Given the description of an element on the screen output the (x, y) to click on. 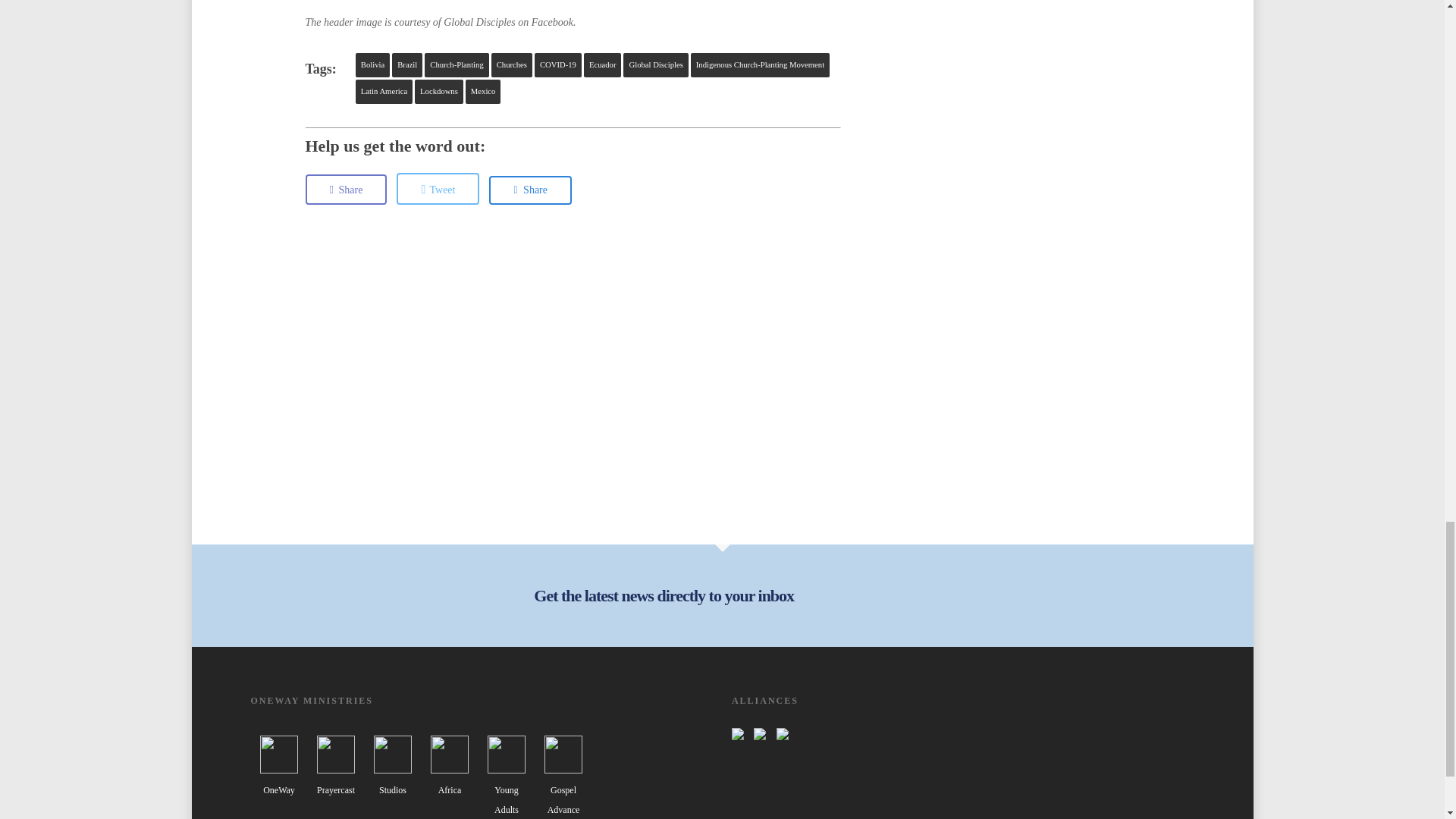
COVID-19 (557, 64)
Share this (345, 189)
Brazil (406, 64)
Church-Planting (456, 64)
Tweet this (437, 188)
Churches (512, 64)
Bolivia (372, 64)
Ecuador (602, 64)
Share this (530, 190)
